Given the description of an element on the screen output the (x, y) to click on. 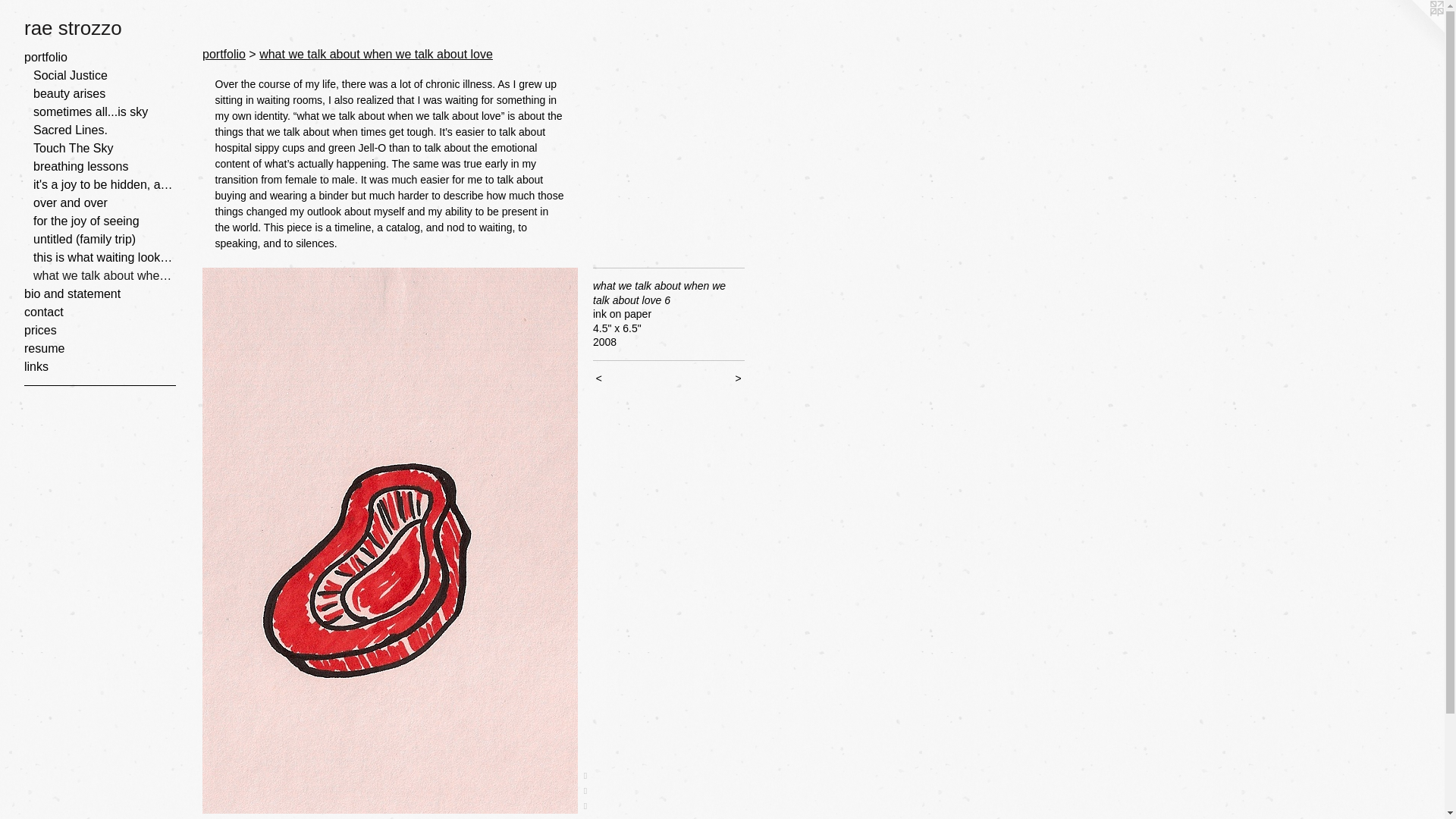
rae strozzo (722, 27)
